Given the description of an element on the screen output the (x, y) to click on. 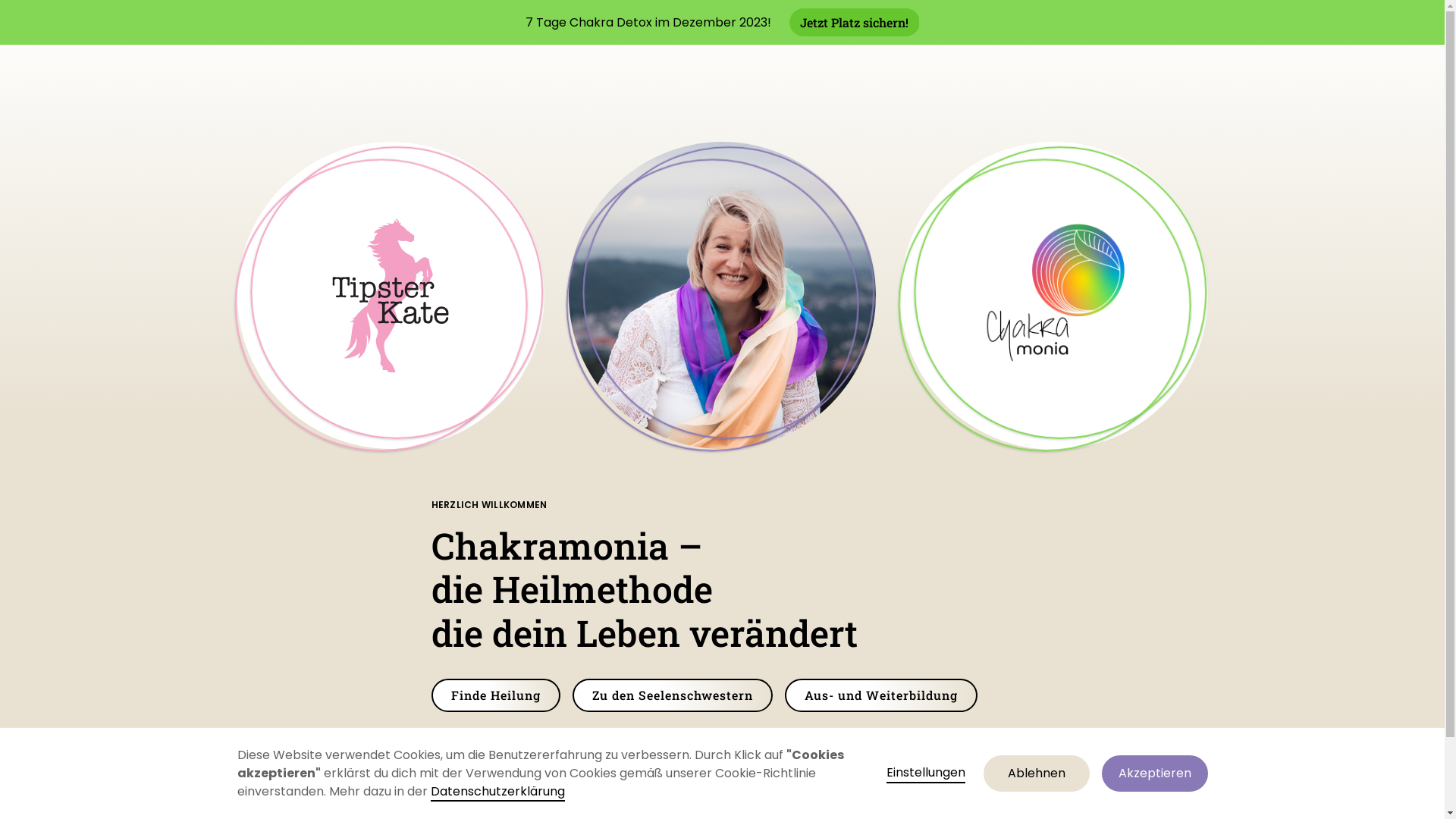
Zu den Seelenschwestern Element type: text (671, 695)
Aus- und Weiterbildung Element type: text (880, 695)
Finde Heilung Element type: text (494, 695)
Ablehnen Element type: text (1035, 773)
Einstellungen Element type: text (924, 773)
Jetzt Platz sichern! Element type: text (854, 22)
Akzeptieren Element type: text (1154, 773)
